Given the description of an element on the screen output the (x, y) to click on. 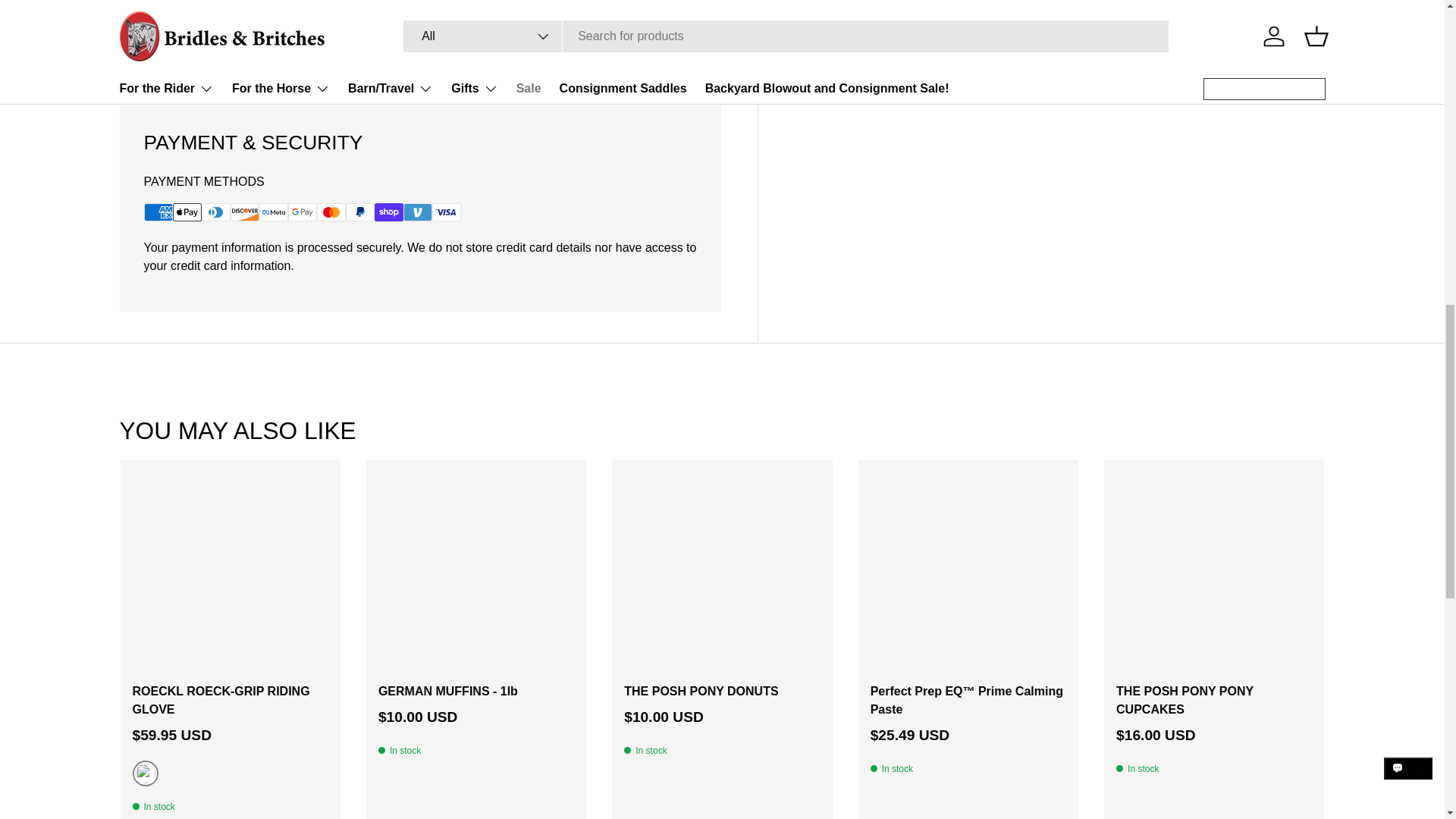
Diners Club (216, 212)
BLACK (144, 773)
American Express (158, 212)
Mastercard (331, 212)
Google Pay (302, 212)
Meta Pay (273, 212)
Discover (244, 212)
Apple Pay (187, 212)
